Given the description of an element on the screen output the (x, y) to click on. 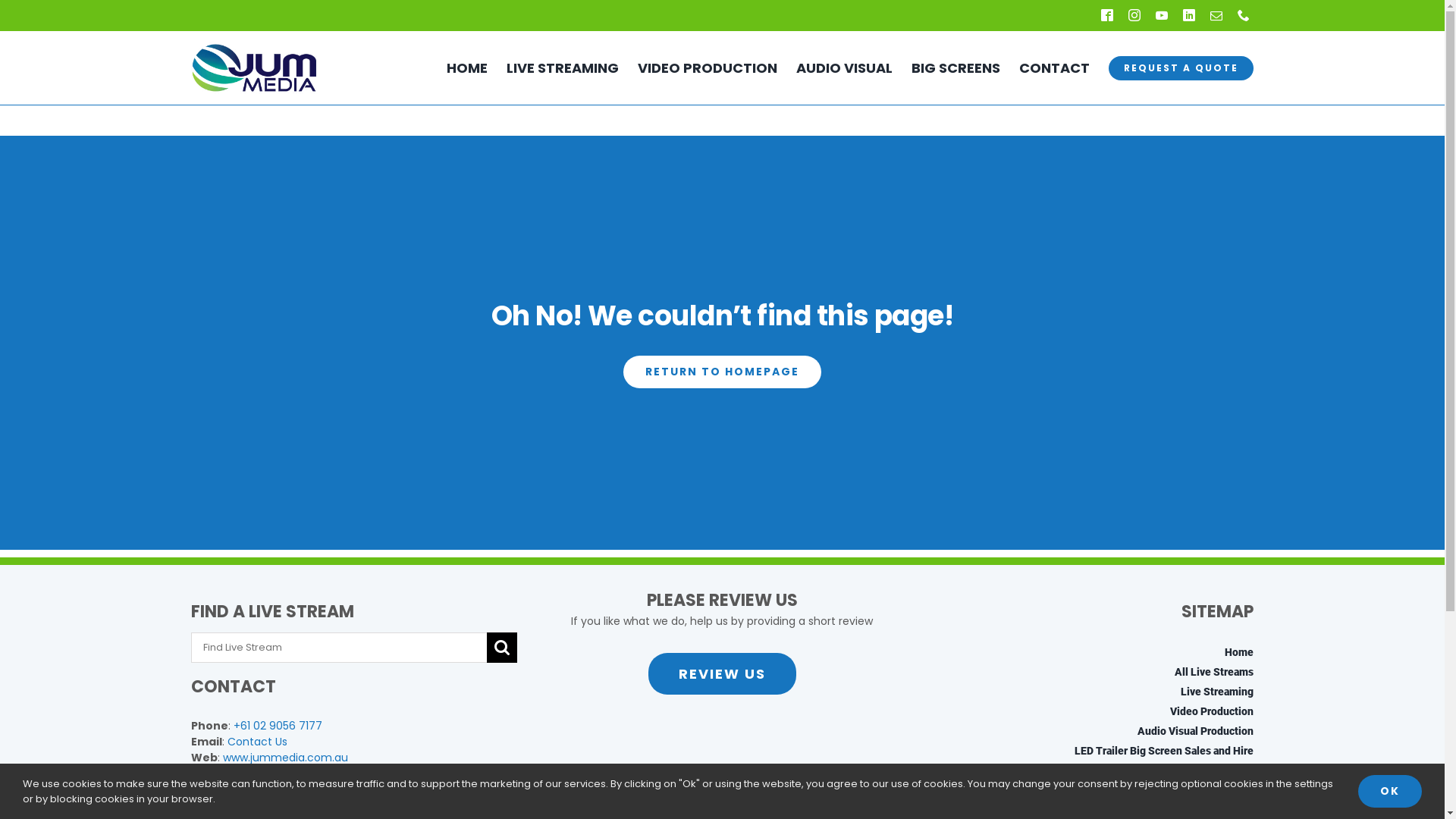
Home Element type: text (1089, 652)
Audio Visual Installation Element type: text (1089, 770)
HOME Element type: text (476, 67)
VIDEO PRODUCTION Element type: text (716, 67)
Advertise Element type: text (1089, 790)
RETURN TO HOMEPAGE Element type: text (722, 371)
REVIEW US Element type: text (722, 673)
Live Streaming Element type: text (1089, 691)
OK Element type: text (1389, 791)
AUDIO VISUAL Element type: text (853, 67)
LIVE STREAMING Element type: text (571, 67)
Audio Visual Production Element type: text (1089, 731)
LED Trailer Big Screen Sales and Hire Element type: text (1089, 751)
Video Production Element type: text (1089, 711)
CONTACT Element type: text (1063, 67)
Jobs Element type: text (1089, 810)
Contact Us Element type: text (257, 741)
+61 02 9056 7177 Element type: text (277, 725)
BIG SCREENS Element type: text (965, 67)
REQUEST A QUOTE Element type: text (1180, 67)
All Live Streams Element type: text (1089, 672)
www.jummedia.com.au Element type: text (285, 757)
